Given the description of an element on the screen output the (x, y) to click on. 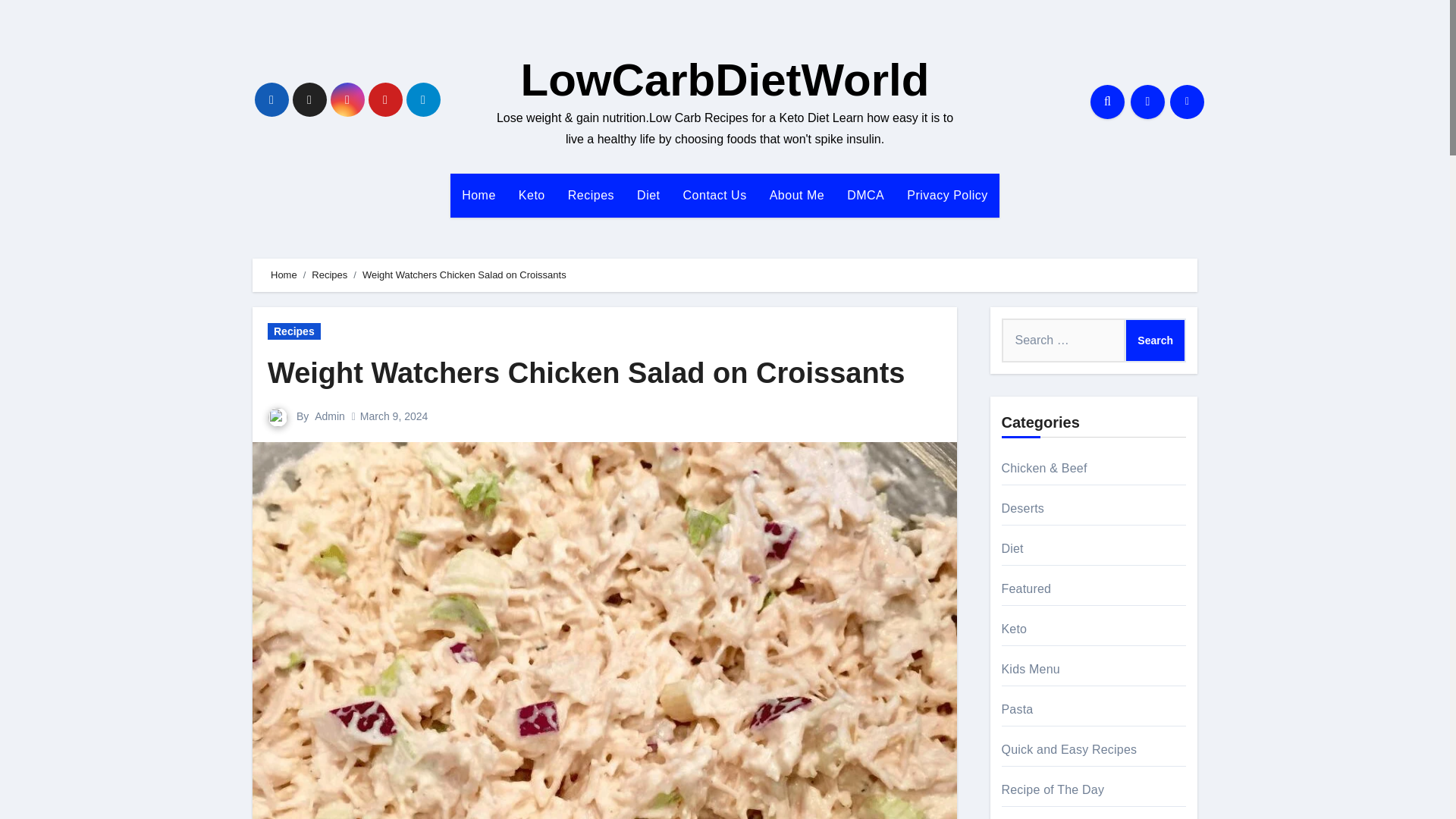
About Me (796, 195)
Contact Us (714, 195)
Search (1155, 340)
Contact Us (714, 195)
Keto (531, 195)
Home (477, 195)
DMCA (865, 195)
Recipes (591, 195)
Weight Watchers Chicken Salad on Croissants (585, 373)
Recipes (591, 195)
